Given the description of an element on the screen output the (x, y) to click on. 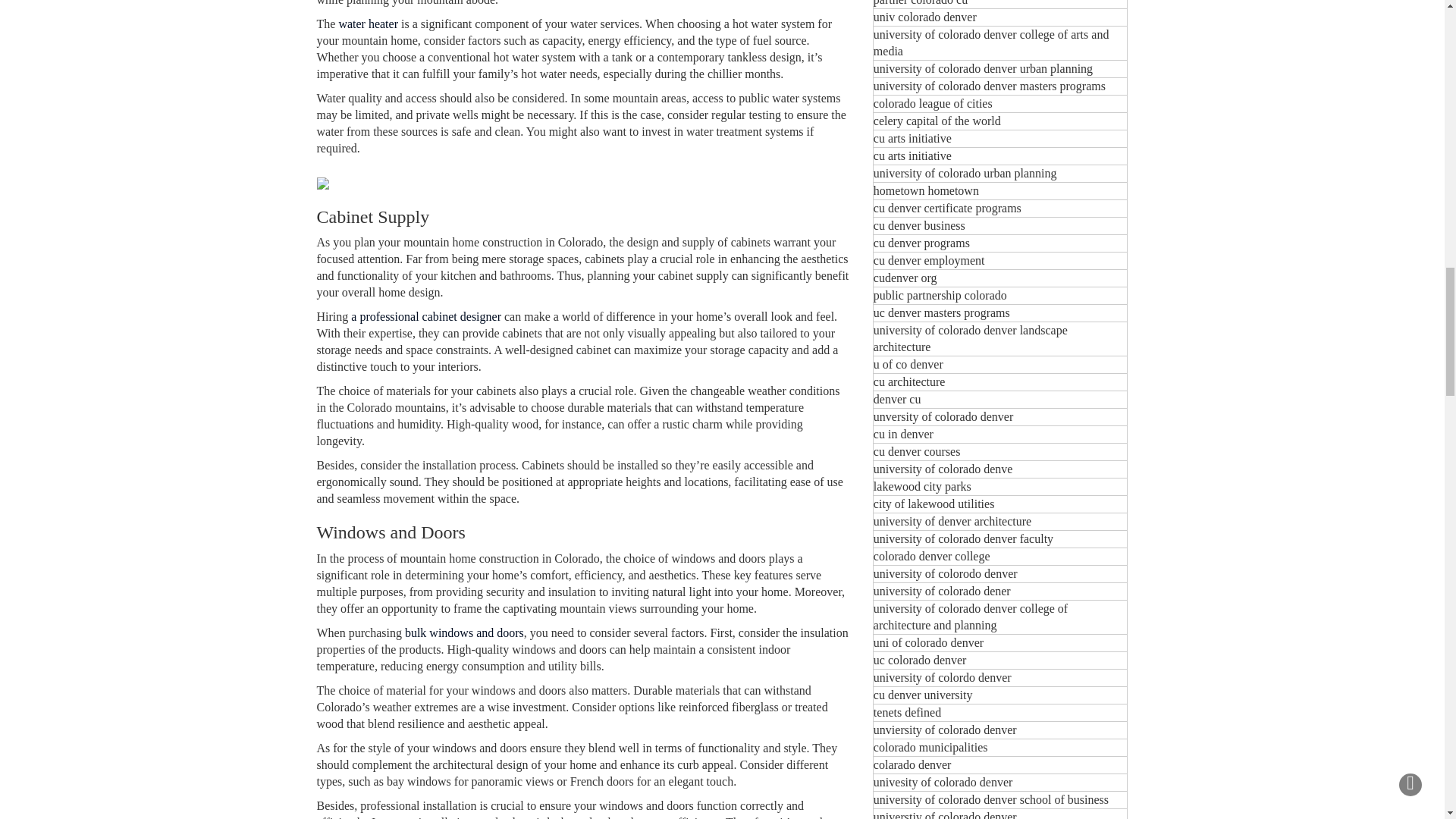
a professional cabinet designer (425, 316)
water heater (367, 23)
bulk windows and doors (464, 632)
